Given the description of an element on the screen output the (x, y) to click on. 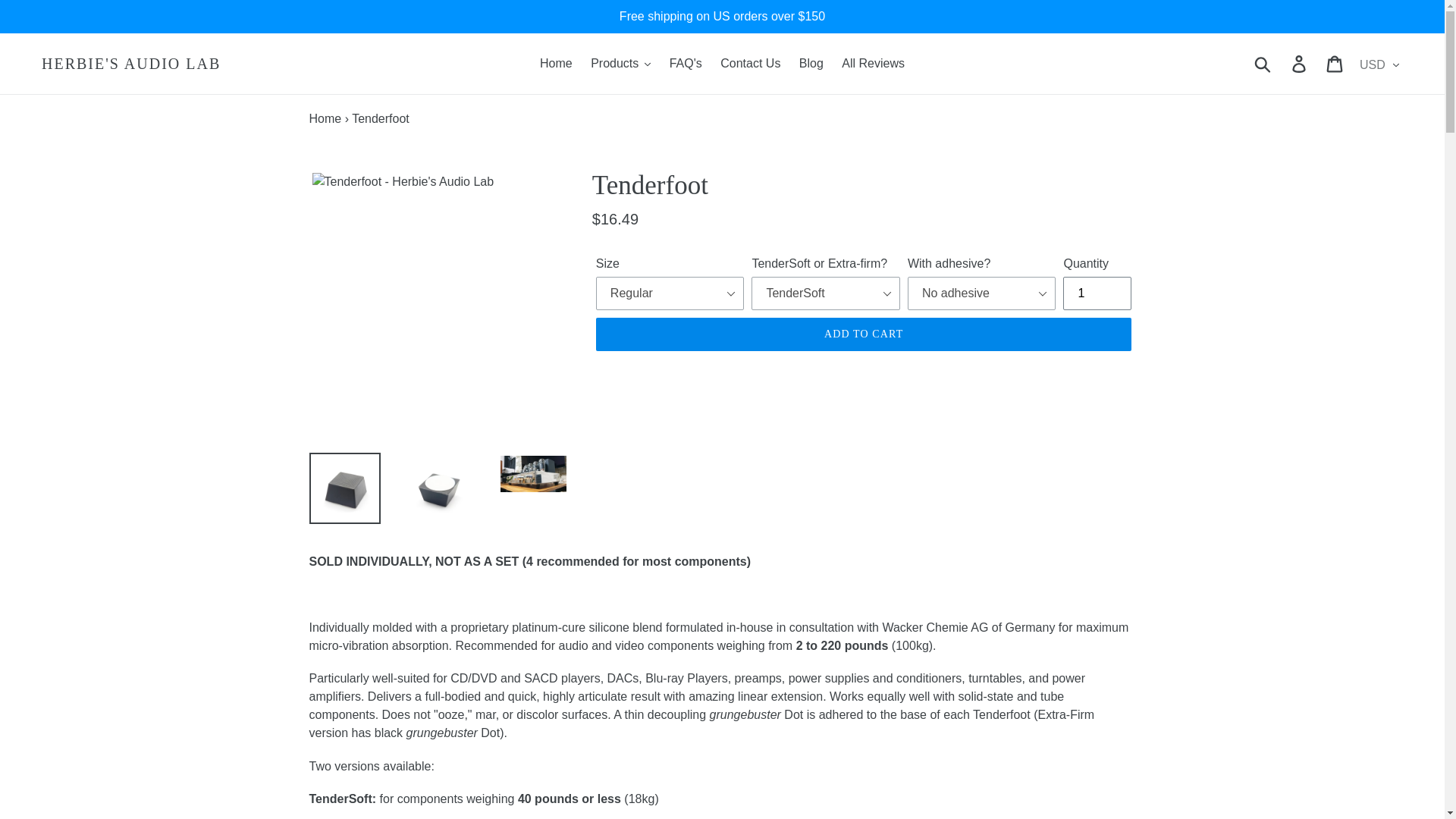
All Reviews (873, 63)
FAQ's (686, 63)
1 (1096, 293)
Cart (1335, 63)
Home (325, 118)
Home (325, 118)
HERBIE'S AUDIO LAB (131, 63)
ADD TO CART (863, 334)
Contact Us (750, 63)
Submit (1263, 63)
Log in (1299, 63)
Home (555, 63)
Blog (811, 63)
